Given the description of an element on the screen output the (x, y) to click on. 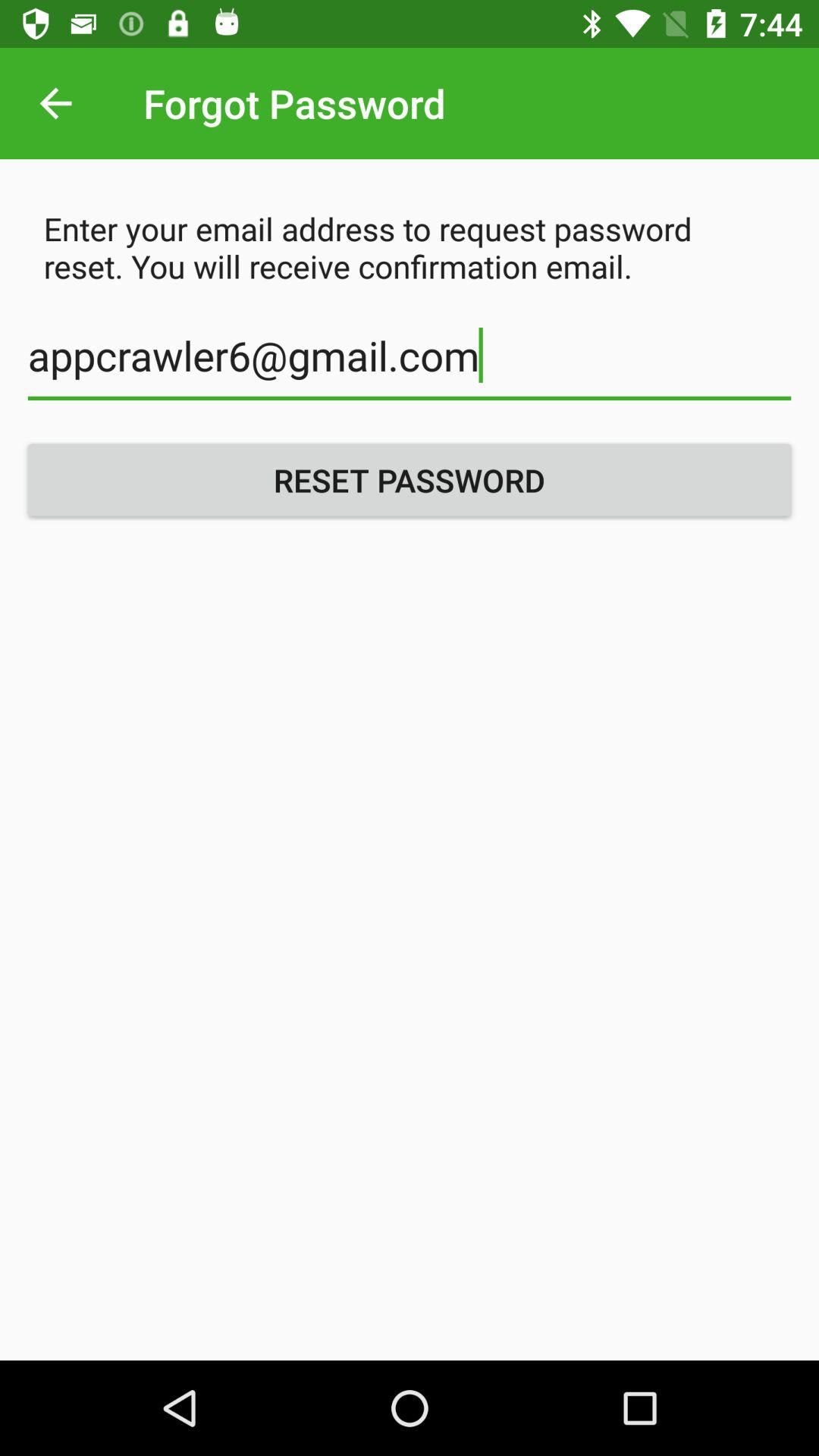
press the item above the enter your email item (55, 103)
